Given the description of an element on the screen output the (x, y) to click on. 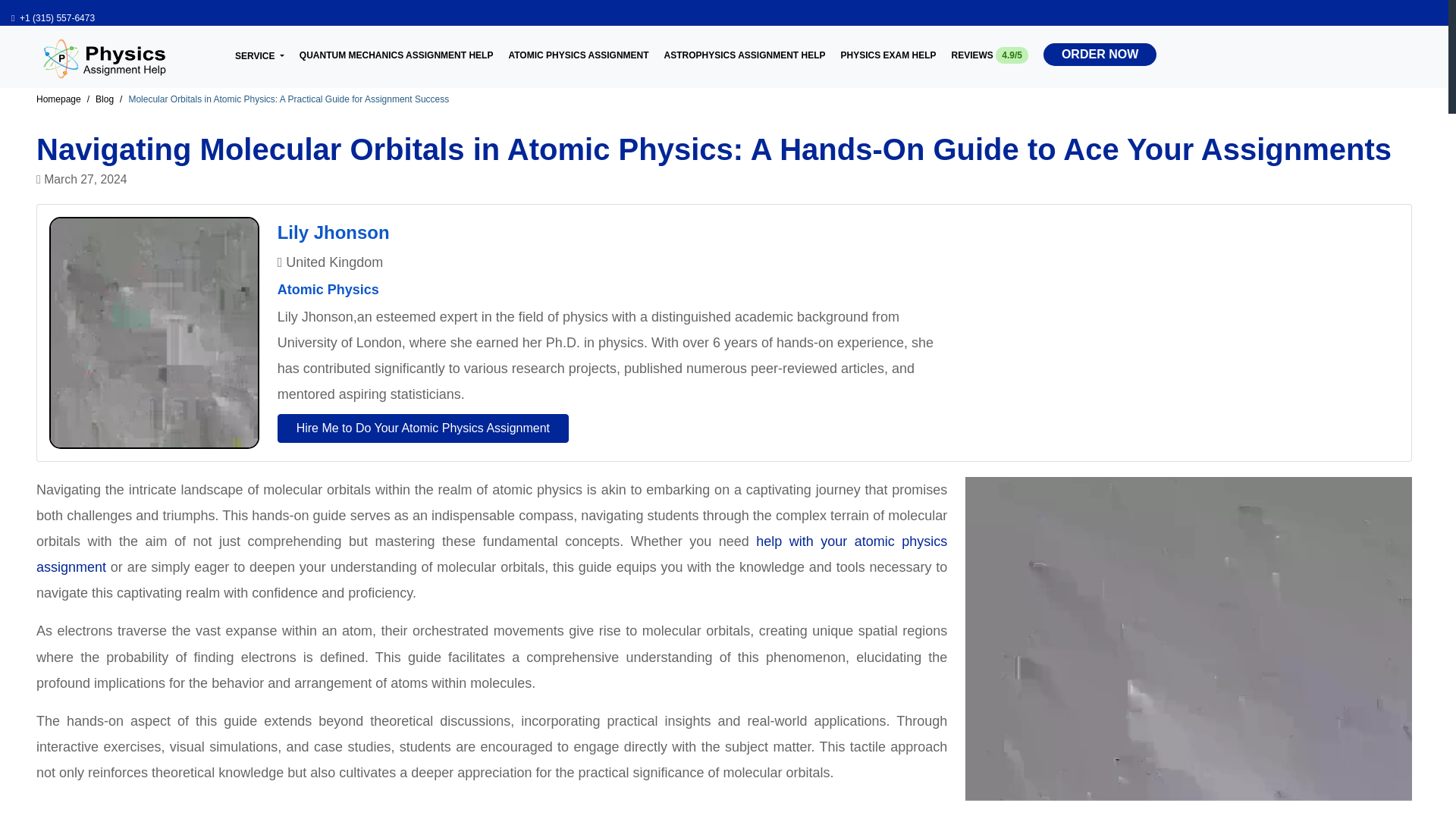
Hire Me to Do Your Atomic Physics Assignment (423, 428)
QUANTUM MECHANICS ASSIGNMENT HELP (396, 51)
help with your atomic physics assignment (491, 553)
Homepage (58, 99)
ASTROPHYSICS ASSIGNMENT HELP (744, 51)
ORDER NOW (1099, 54)
ATOMIC PHYSICS ASSIGNMENT (577, 51)
SERVICE (258, 55)
PHYSICS EXAM HELP (888, 51)
Blog (104, 99)
